Given the description of an element on the screen output the (x, y) to click on. 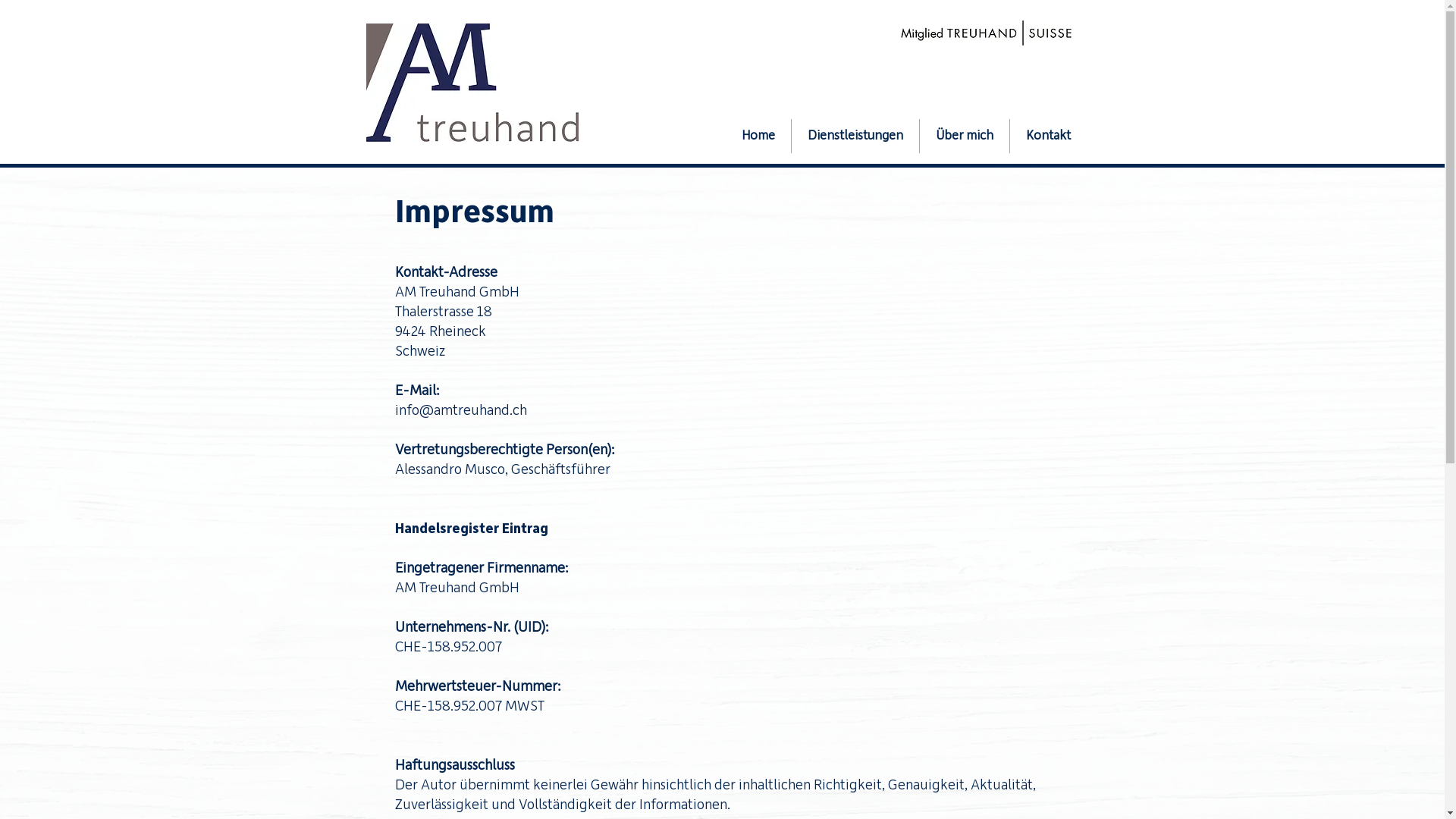
Dienstleistungen Element type: text (855, 136)
Home Element type: text (757, 136)
Kontakt Element type: text (1048, 136)
info@amtreuhand.ch Element type: text (460, 409)
